Given the description of an element on the screen output the (x, y) to click on. 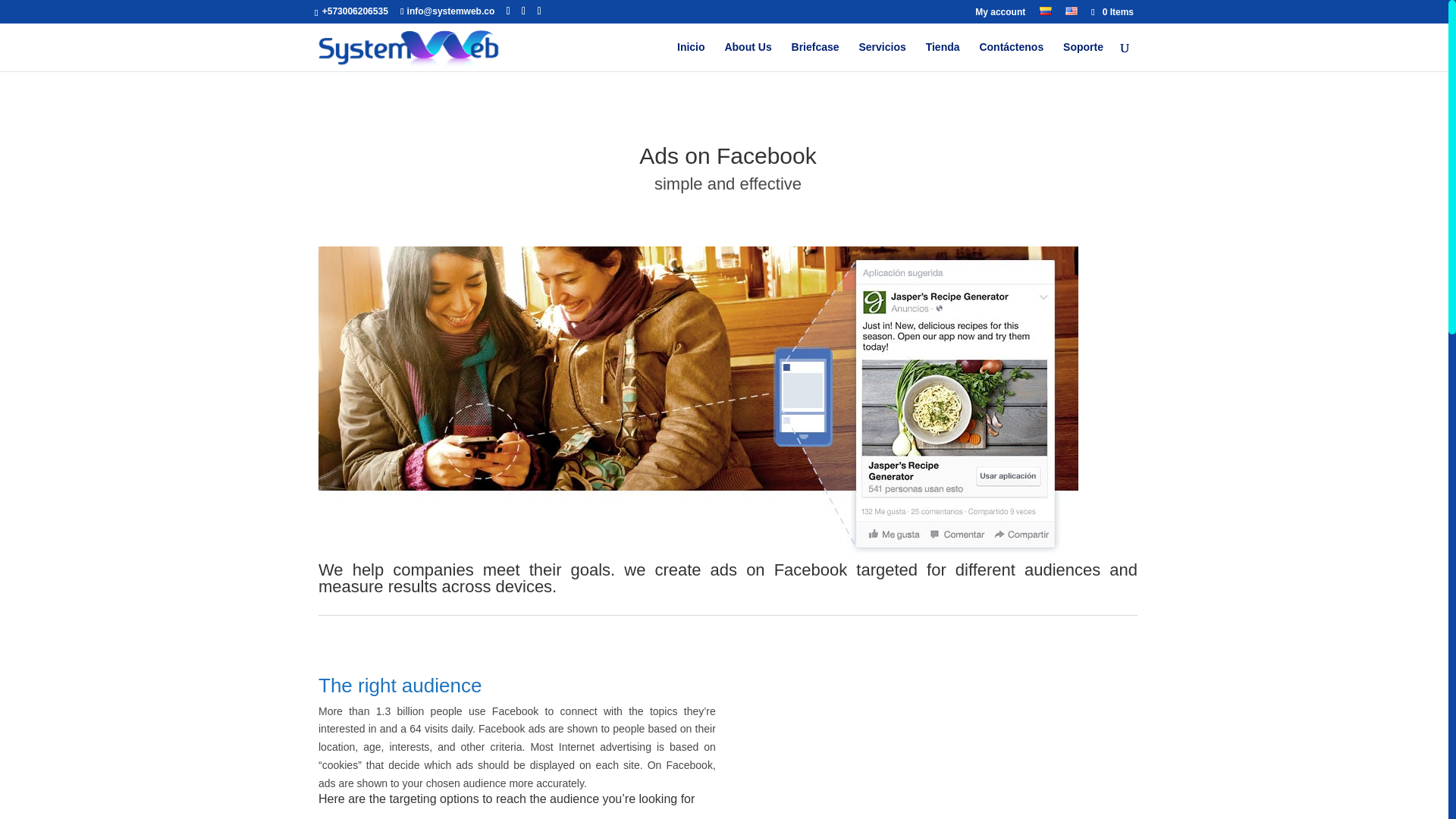
My account (1000, 15)
Servicios (882, 56)
0 Items (1111, 11)
Soporte (1082, 56)
Inicio (690, 56)
Briefcase (816, 56)
About Us (747, 56)
Tienda (942, 56)
